Given the description of an element on the screen output the (x, y) to click on. 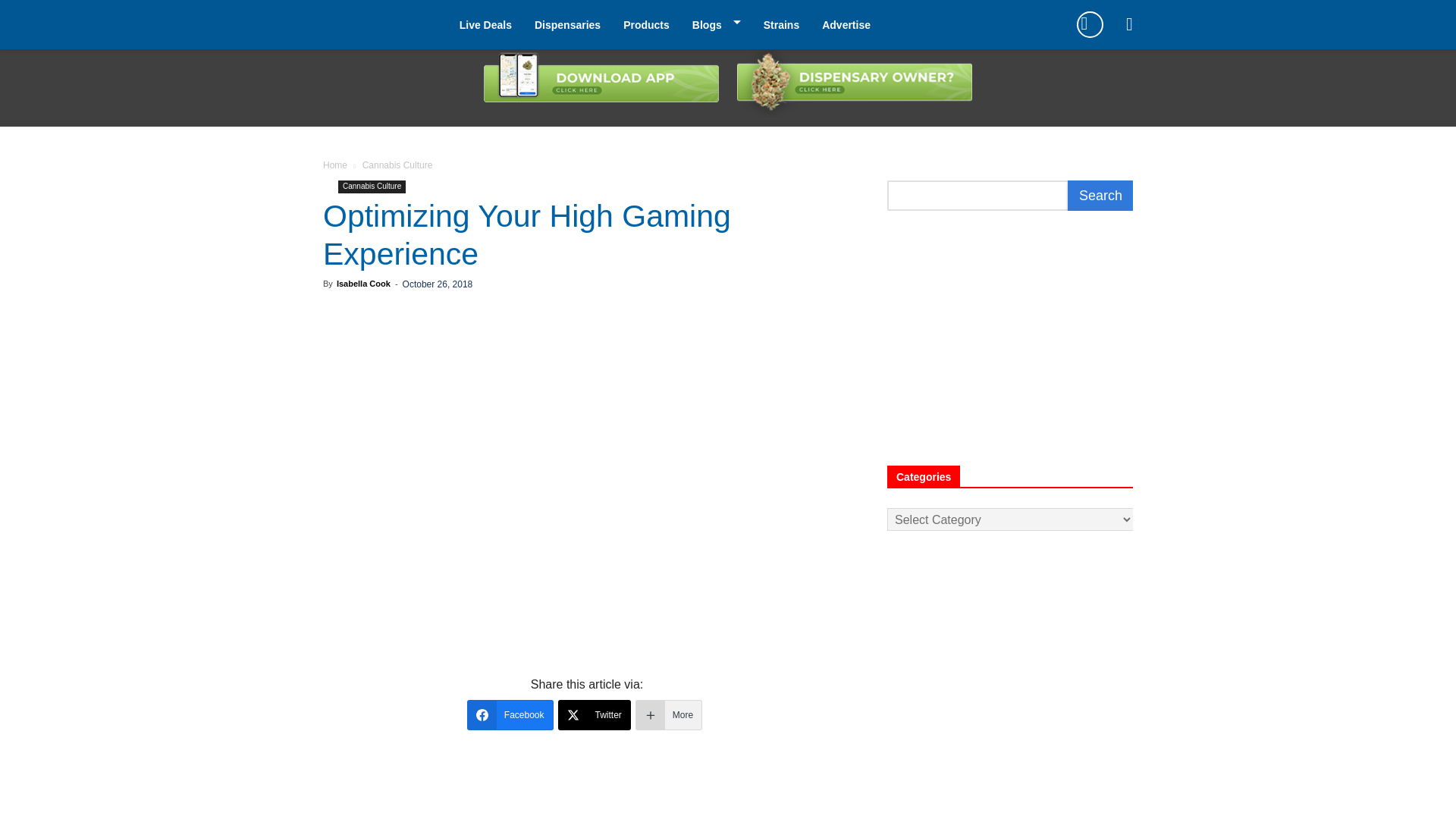
Strains (780, 24)
Home (335, 164)
Products (646, 24)
Isabella Cook (363, 283)
Blogs (707, 24)
Dispensaries (566, 24)
Search (1100, 195)
Twitter (593, 715)
More (667, 715)
Cannabis Culture (371, 186)
